Given the description of an element on the screen output the (x, y) to click on. 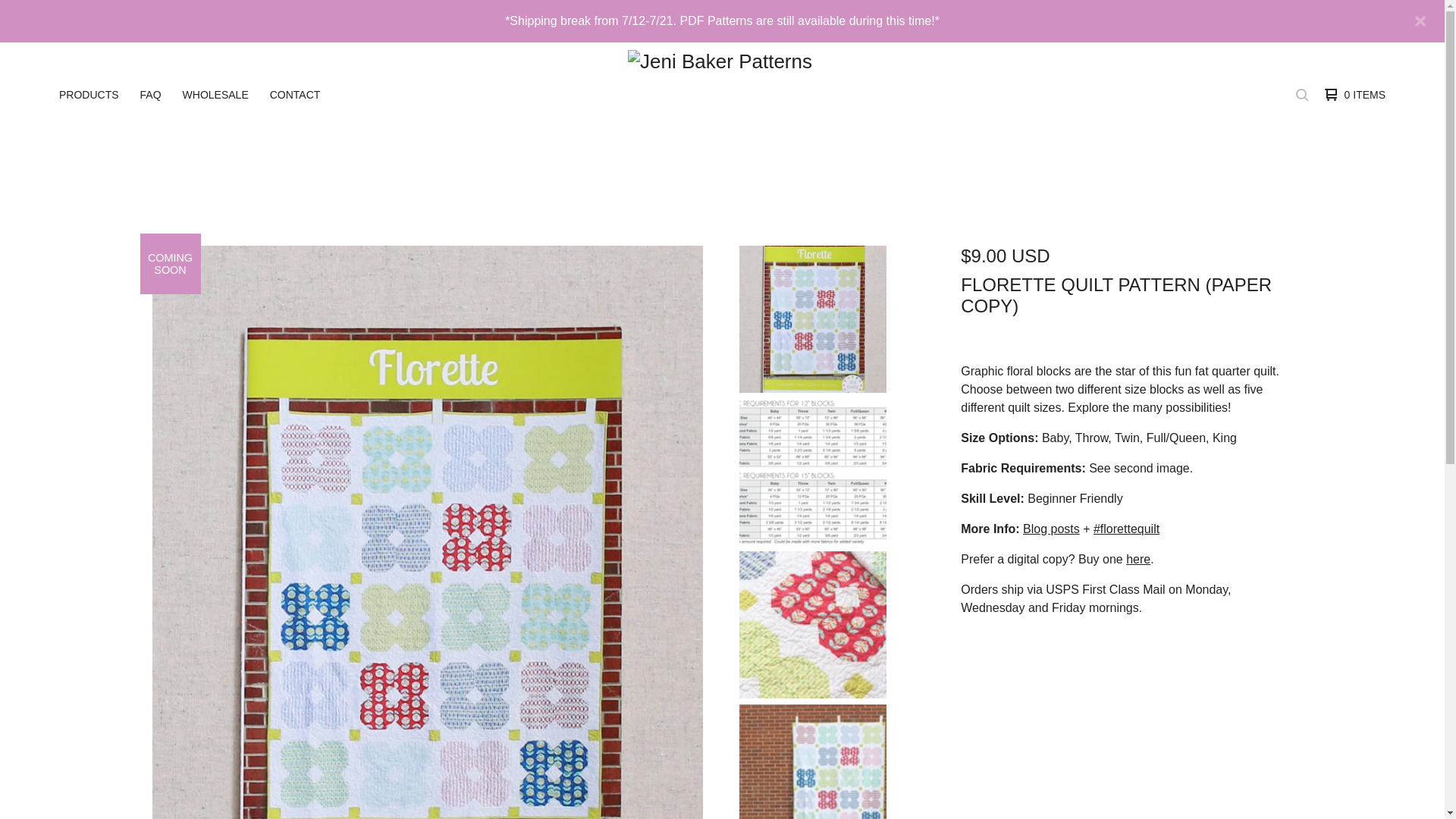
Blog posts (1051, 528)
here (1137, 558)
0 ITEMS (1351, 94)
FAQ (150, 94)
View Wholesale (215, 94)
Close announcement message (1419, 21)
Jeni Baker Patterns (719, 94)
PRODUCTS (89, 94)
WHOLESALE (215, 94)
CONTACT (294, 94)
View FAQ (150, 94)
View cart (1351, 94)
